Given the description of an element on the screen output the (x, y) to click on. 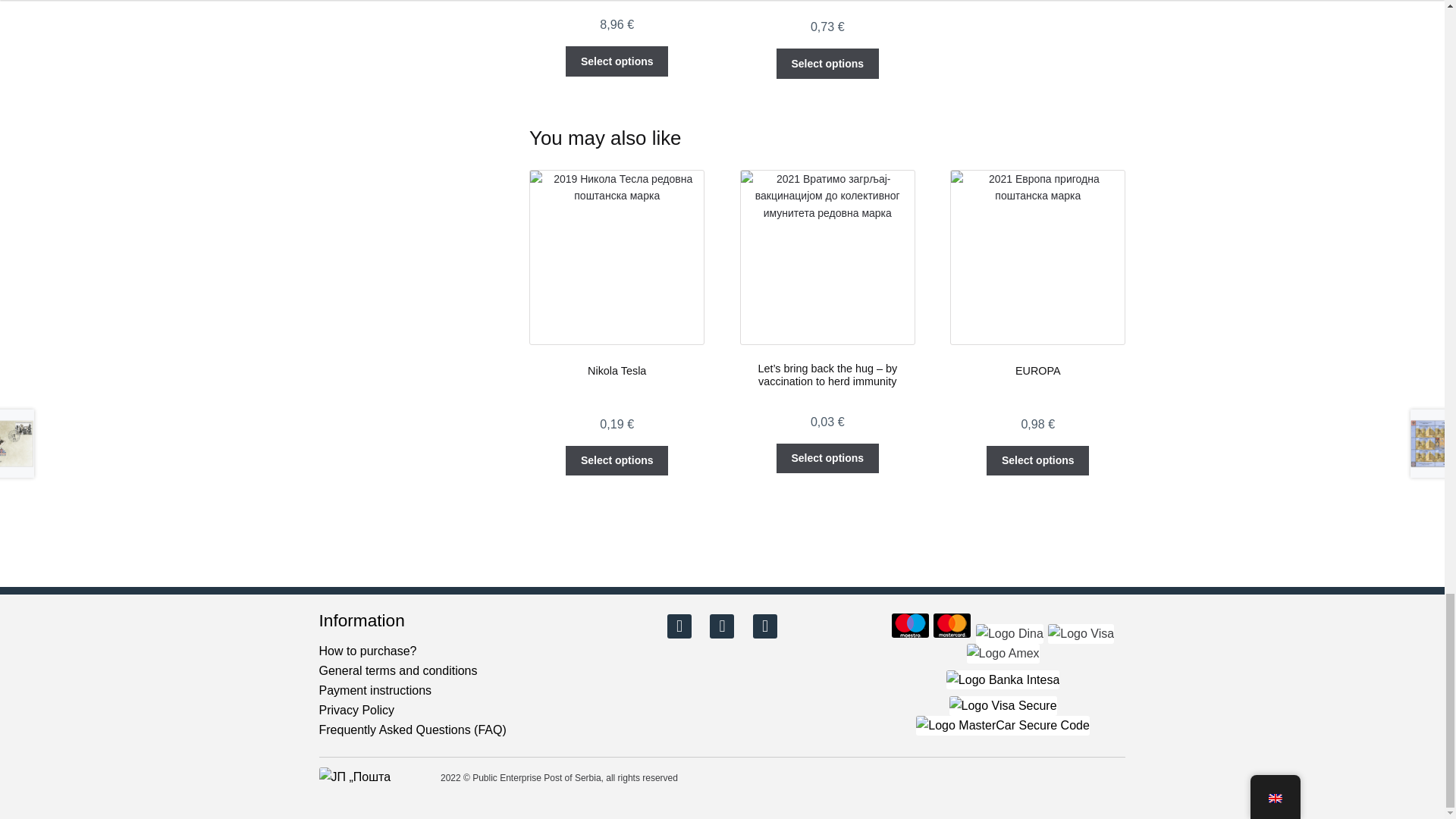
Instagram (721, 625)
Facebook (678, 625)
Default Label (764, 625)
